Given the description of an element on the screen output the (x, y) to click on. 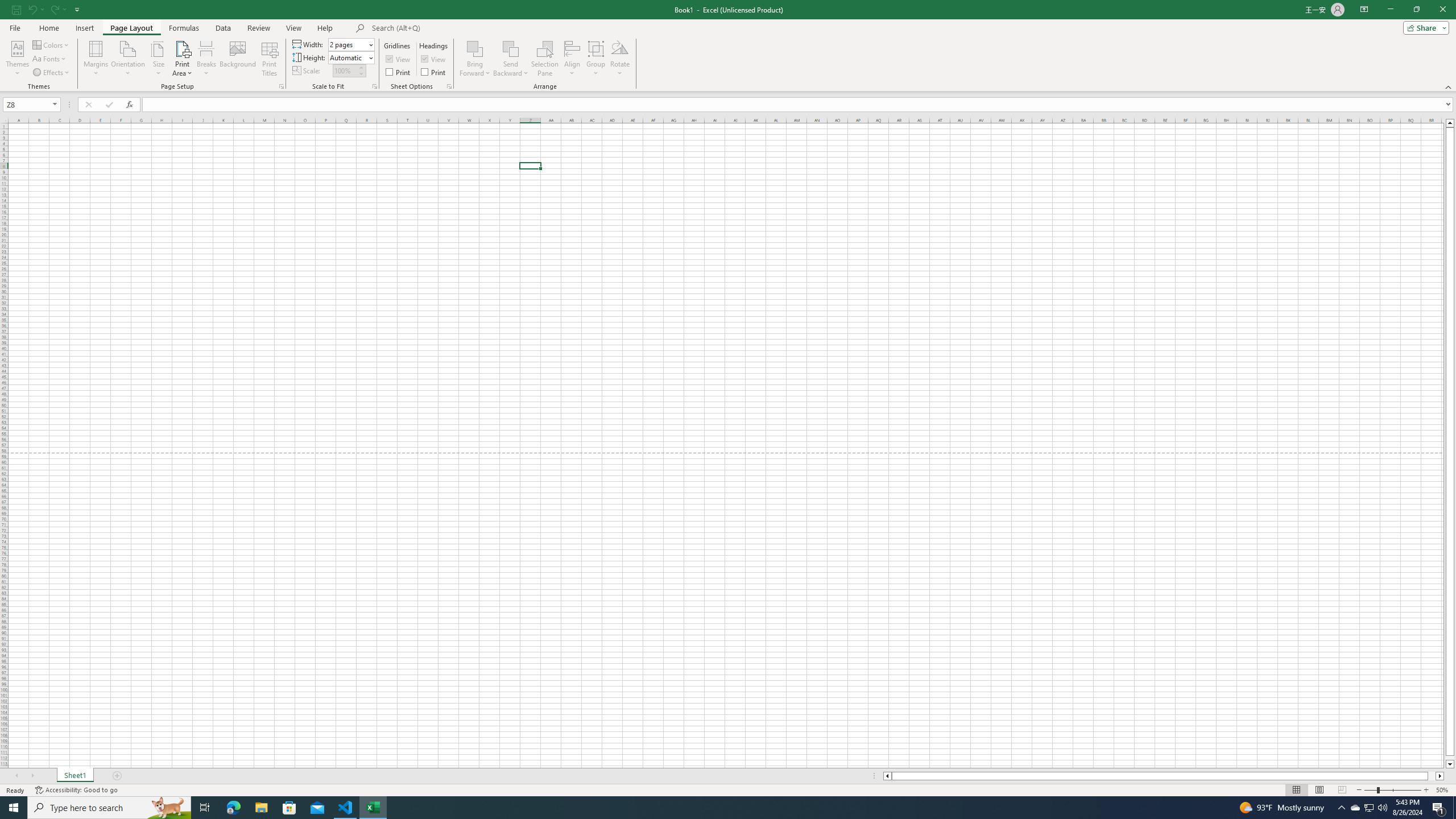
Align (571, 58)
Themes (17, 58)
Bring Forward (475, 58)
Effects (51, 72)
Send Backward (510, 48)
